Given the description of an element on the screen output the (x, y) to click on. 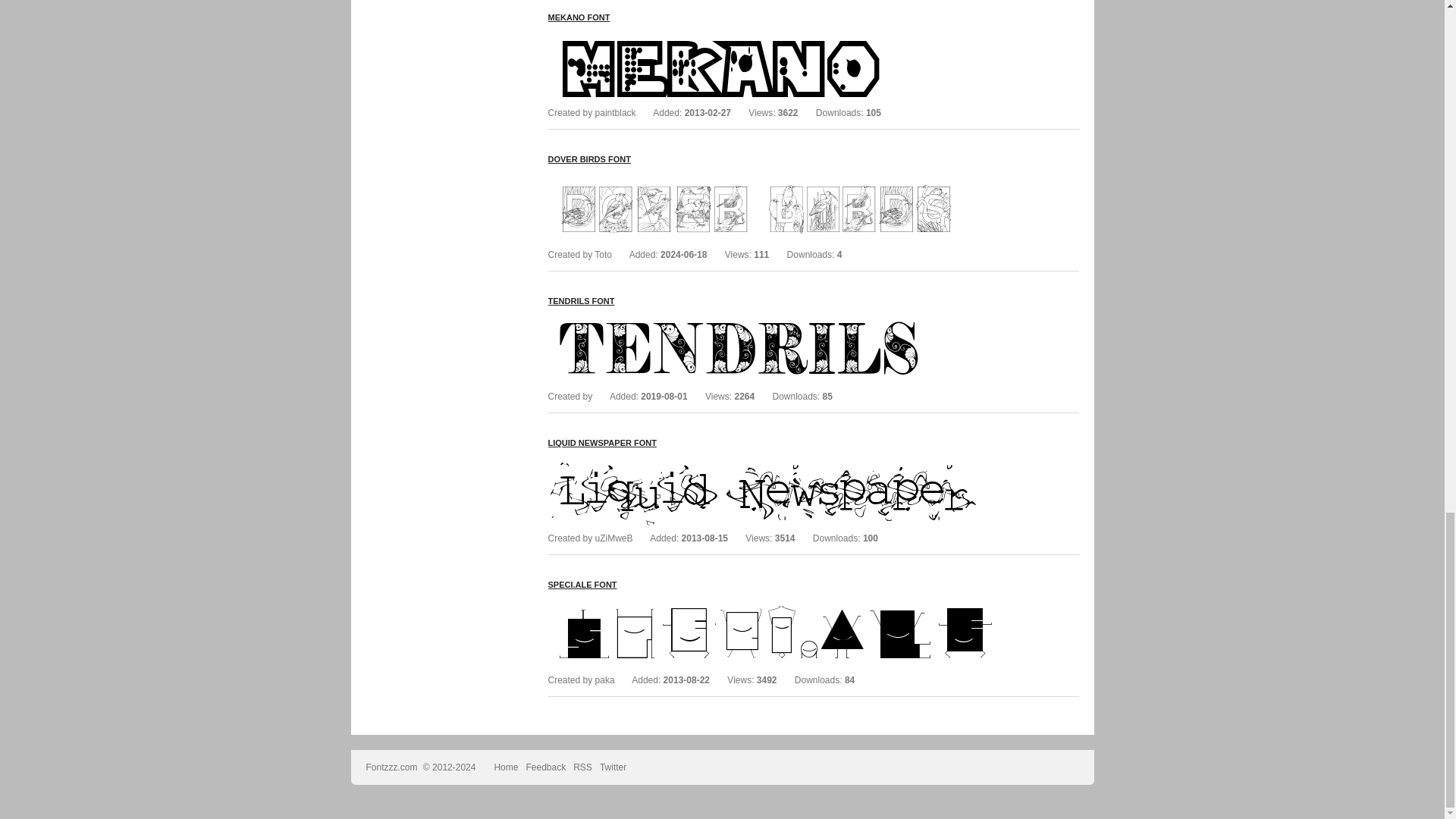
Dover Birds font (775, 178)
Mekano font (578, 17)
Tendrils font (580, 300)
Liquid Newspaper font (775, 462)
Speci.ALE font (581, 583)
Speci.ALE font (775, 603)
Liquid Newspaper font (601, 442)
Tendrils font (775, 320)
Dover Birds font (588, 158)
Mekano font (775, 36)
